Given the description of an element on the screen output the (x, y) to click on. 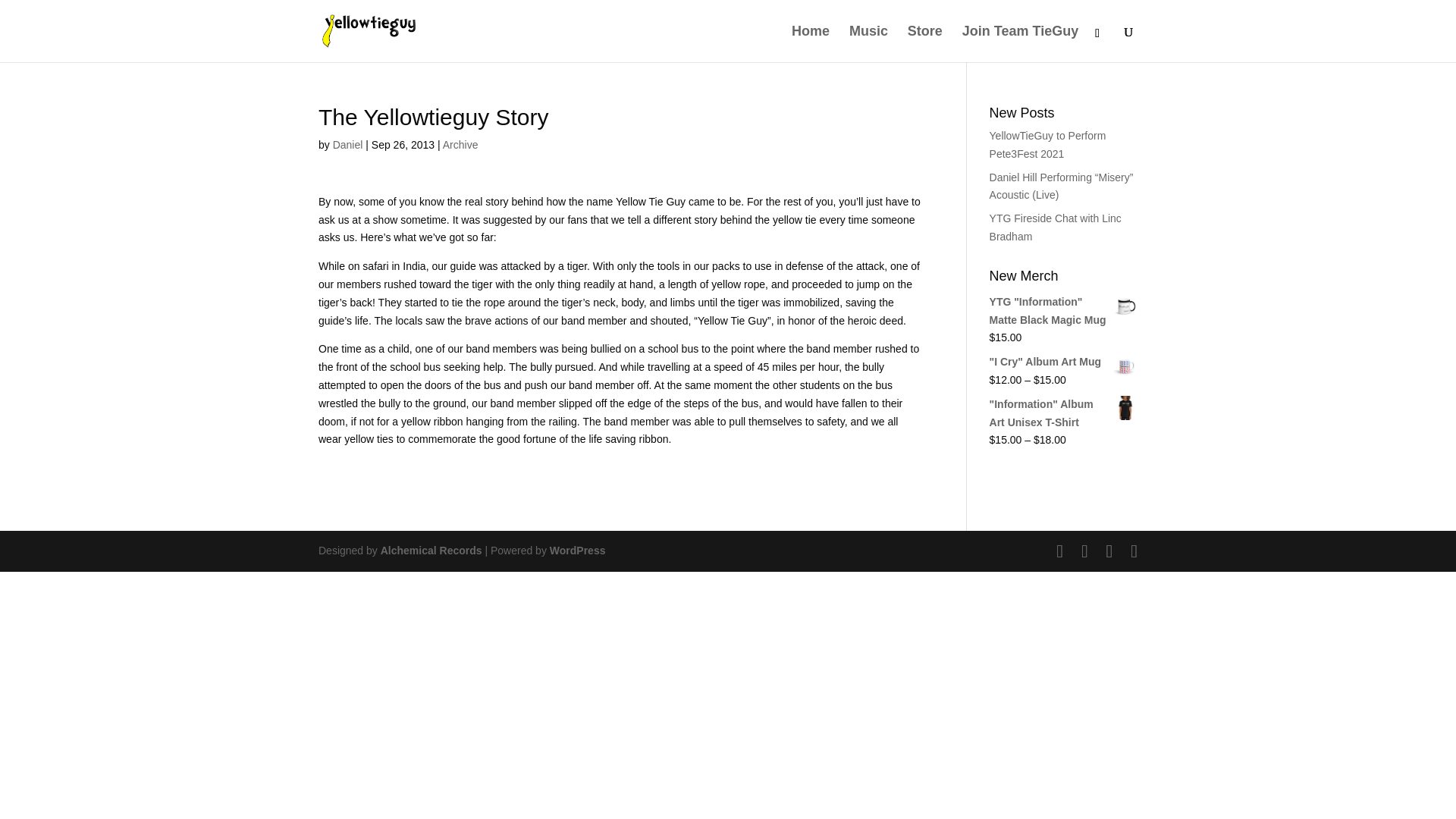
Home (810, 43)
Posts by Daniel (347, 144)
YTG Fireside Chat with Linc Bradham (1055, 227)
Store (924, 43)
Archive (460, 144)
"Information" Album Art Unisex T-Shirt (1063, 413)
WordPress (577, 550)
Alchemical Records (430, 550)
Entertainment Distribution and Marketing (430, 550)
"I Cry" Album Art Mug (1063, 361)
Daniel (347, 144)
YTG "Information" Matte Black Magic Mug (1063, 311)
Music (868, 43)
YellowTieGuy to Perform Pete3Fest 2021 (1048, 144)
Join Team TieGuy (1020, 43)
